Given the description of an element on the screen output the (x, y) to click on. 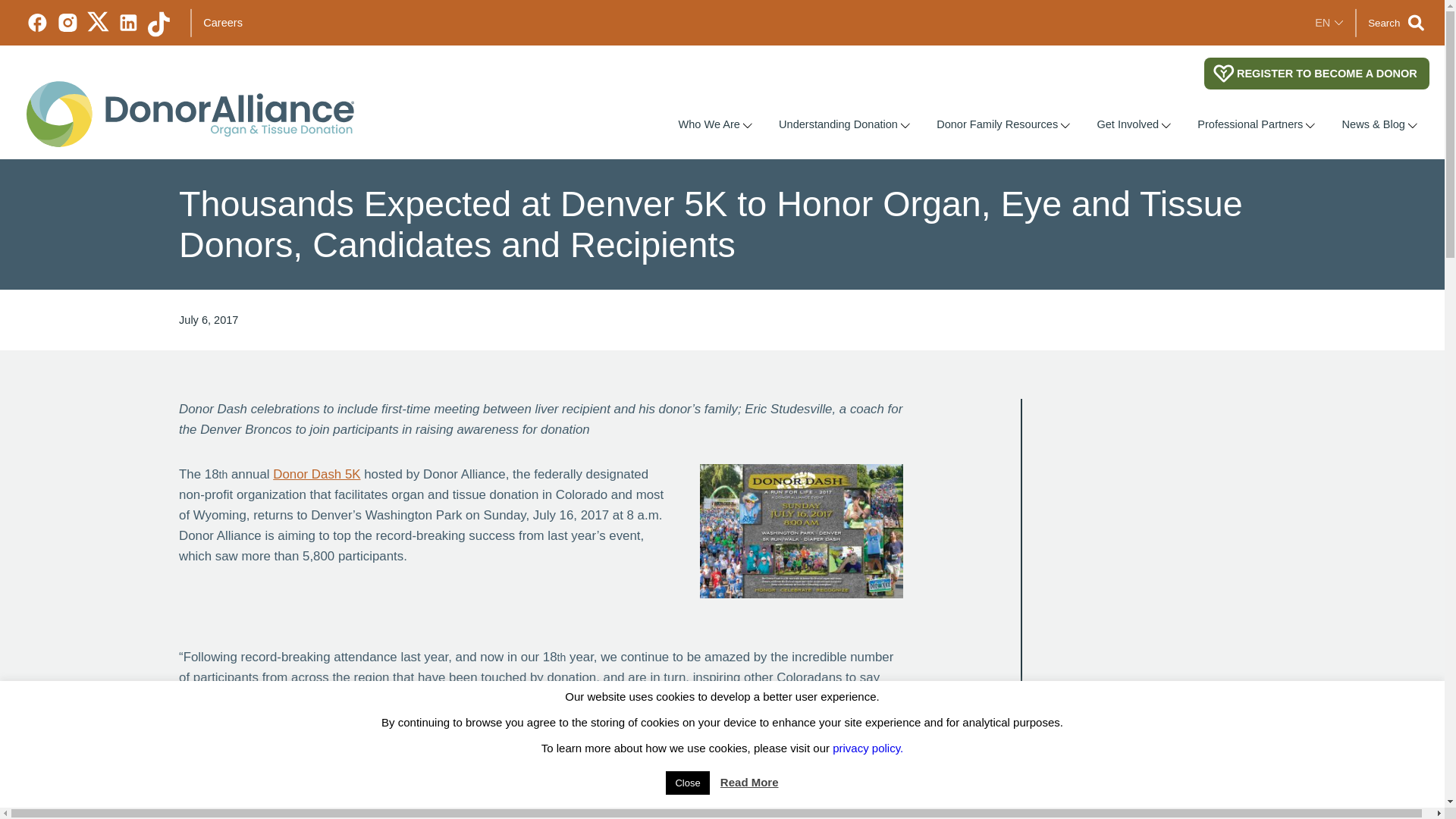
Careers (223, 22)
Who We Are (703, 123)
Search (1395, 22)
REGISTER TO BECOME A DONOR (1316, 73)
